Given the description of an element on the screen output the (x, y) to click on. 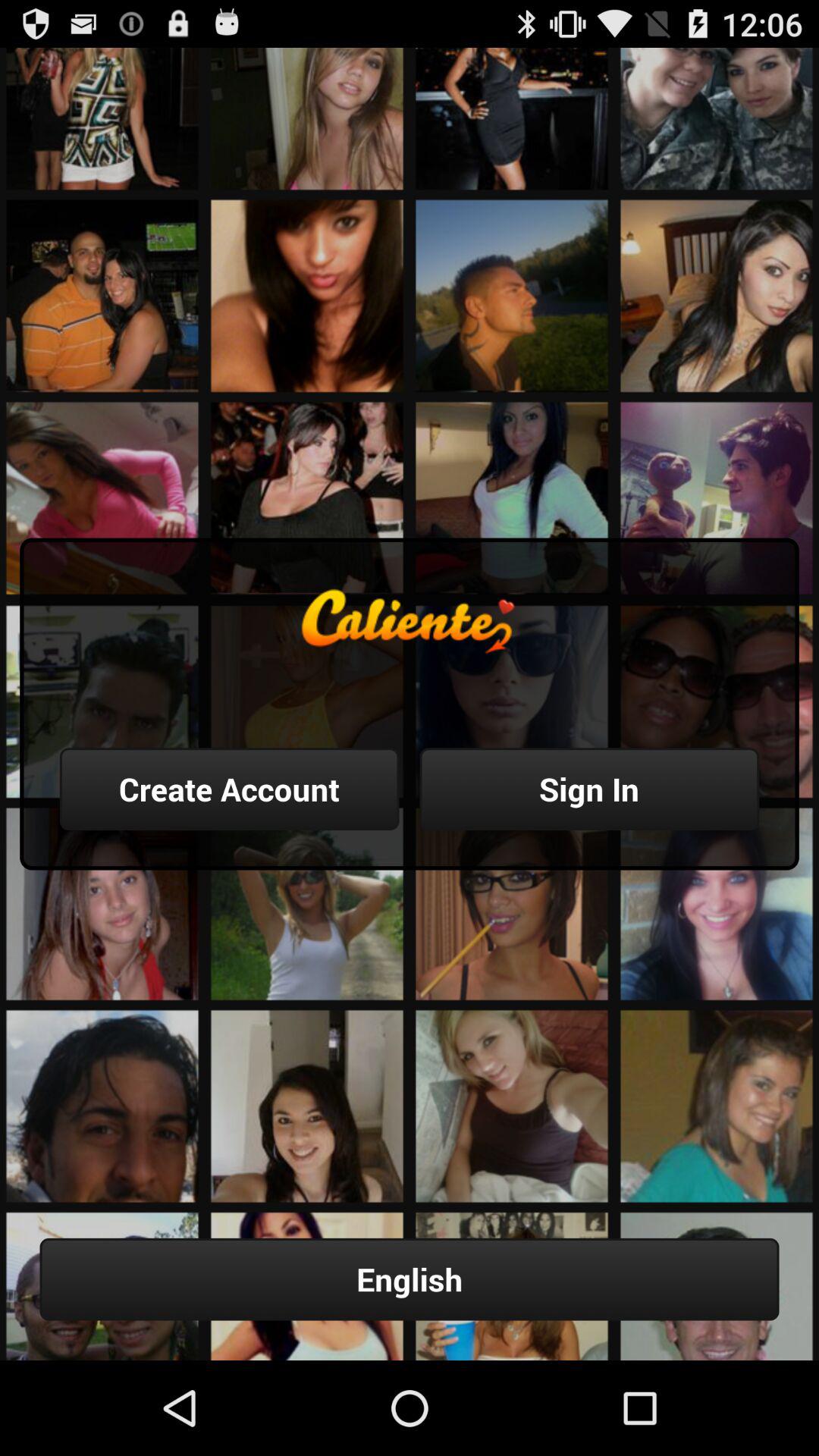
select icon on the left (229, 788)
